Given the description of an element on the screen output the (x, y) to click on. 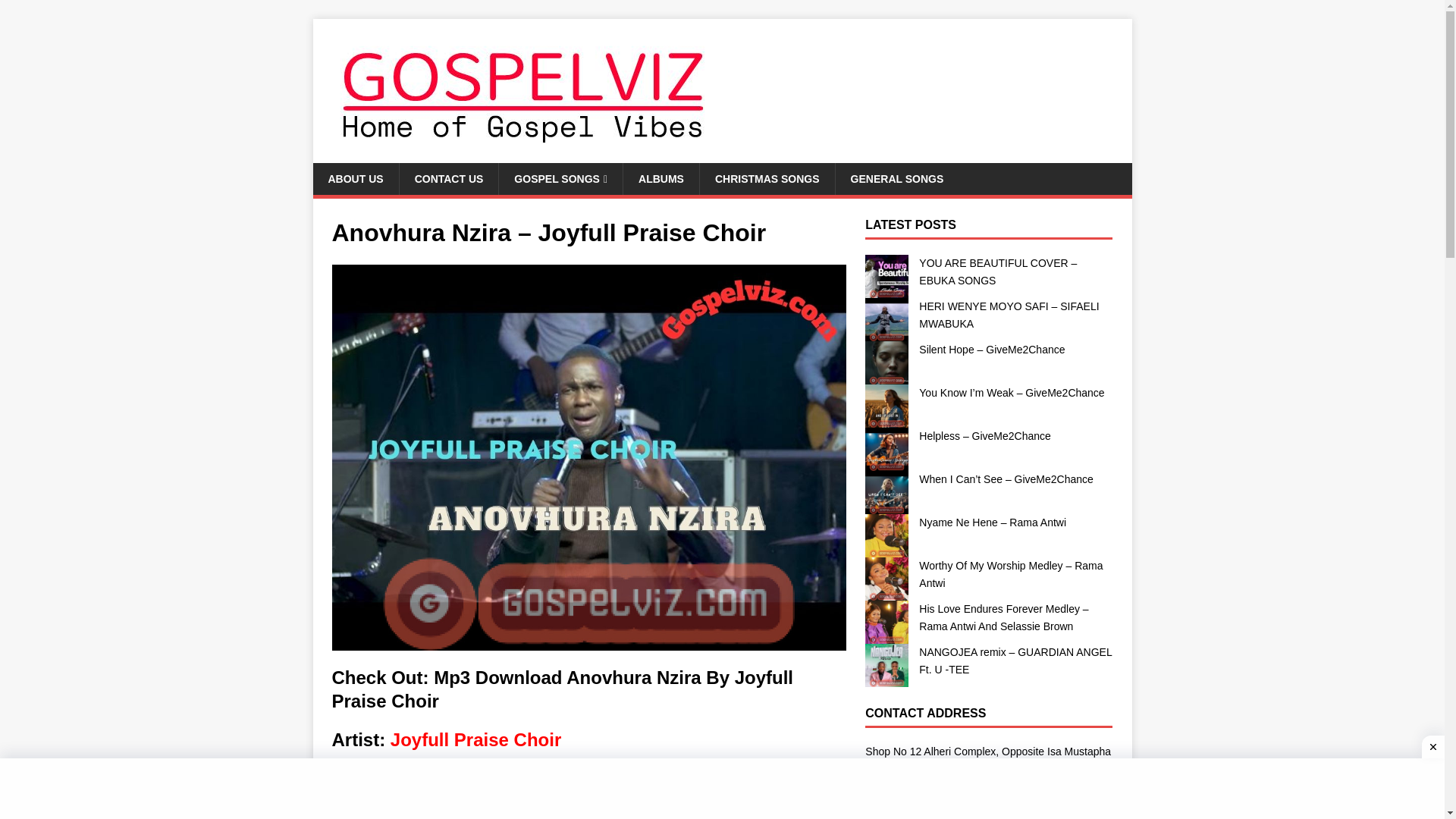
CHRISTMAS SONGS (766, 178)
ABOUT US (355, 178)
GOSPEL SONGS (560, 178)
GENERAL SONGS (896, 178)
ALBUMS (660, 178)
CONTACT US (448, 178)
